Given the description of an element on the screen output the (x, y) to click on. 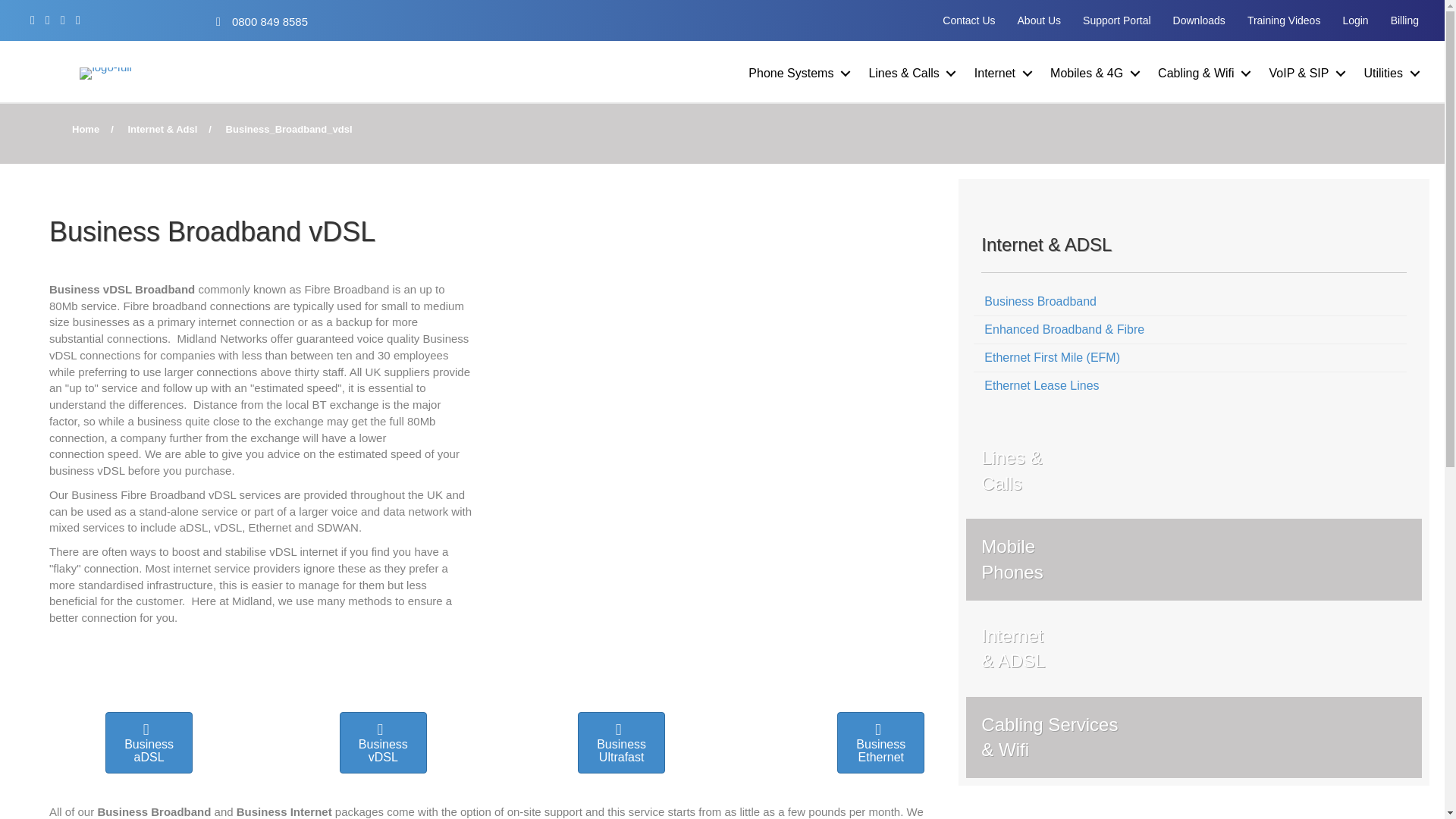
Login (1355, 20)
About Us (1039, 20)
Phone Systems (800, 72)
Contact Us (968, 20)
Downloads (1198, 20)
Billing (1404, 20)
Support Portal (1116, 20)
Training Videos (1284, 20)
Home (85, 129)
logo-full (106, 73)
